Given the description of an element on the screen output the (x, y) to click on. 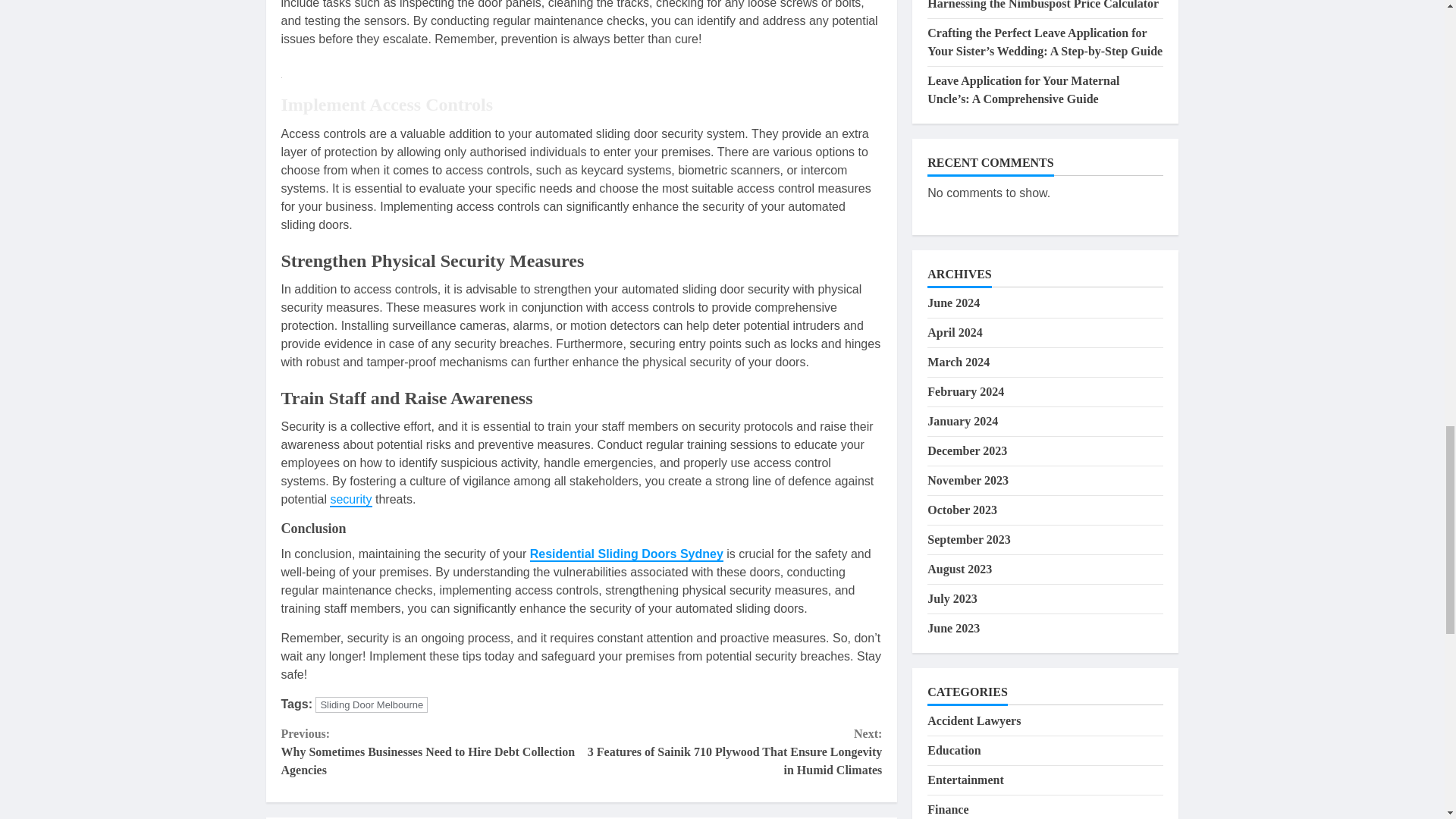
security (350, 499)
Sliding Door Melbourne (371, 704)
Residential Sliding Doors Sydney (626, 554)
